Given the description of an element on the screen output the (x, y) to click on. 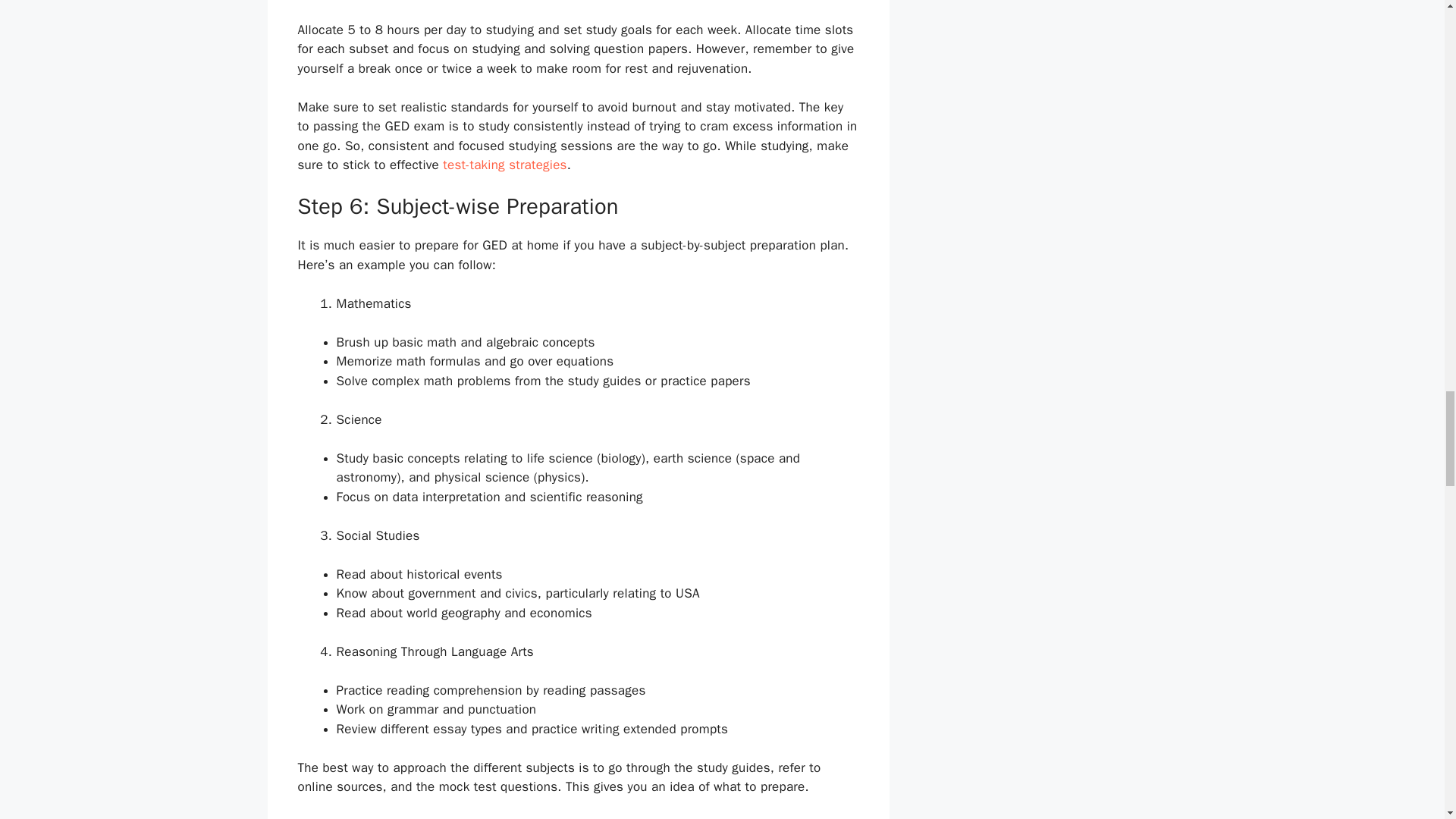
test-taking strategies (504, 164)
